Given the description of an element on the screen output the (x, y) to click on. 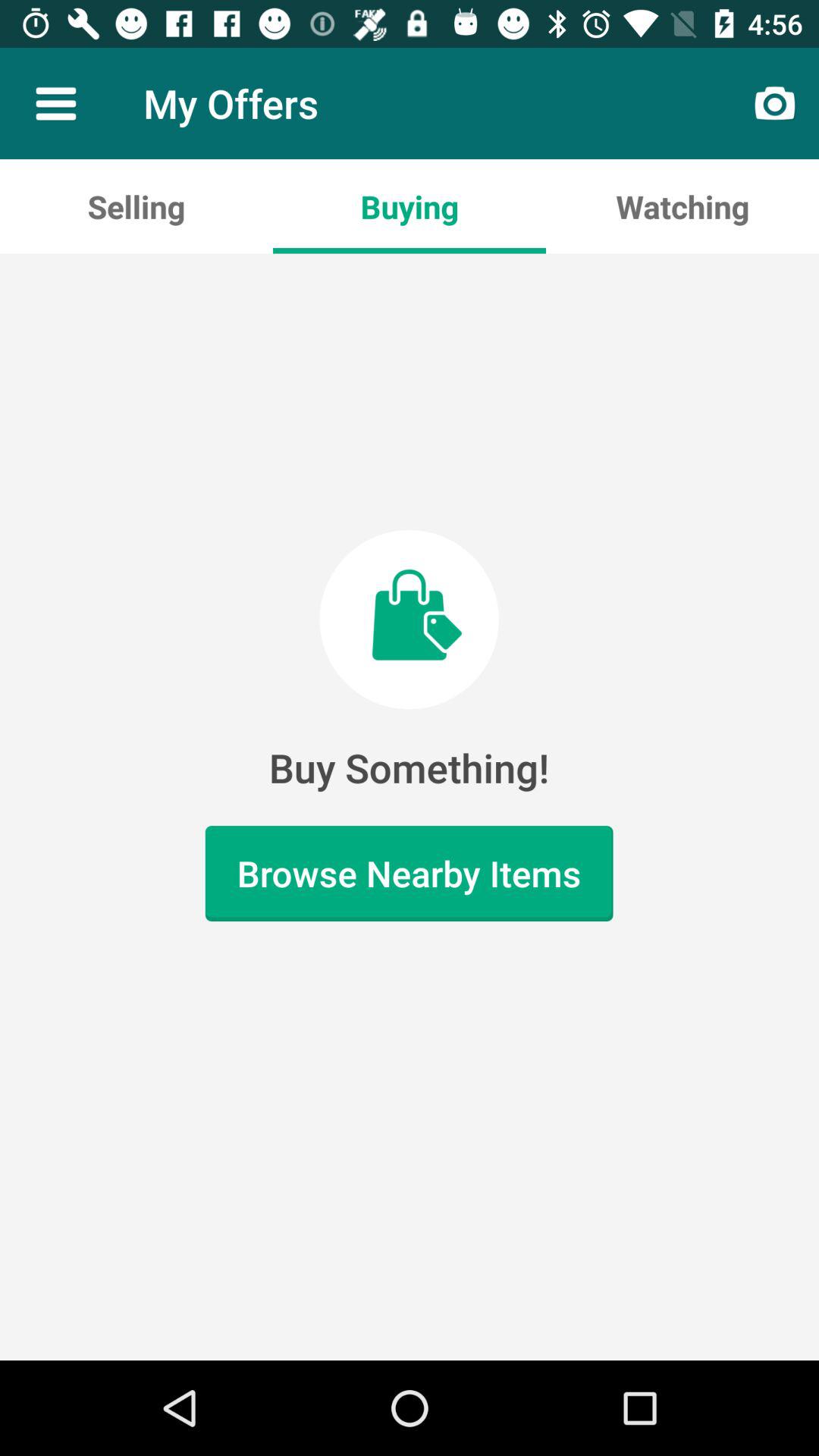
turn off icon to the right of buying app (682, 206)
